Given the description of an element on the screen output the (x, y) to click on. 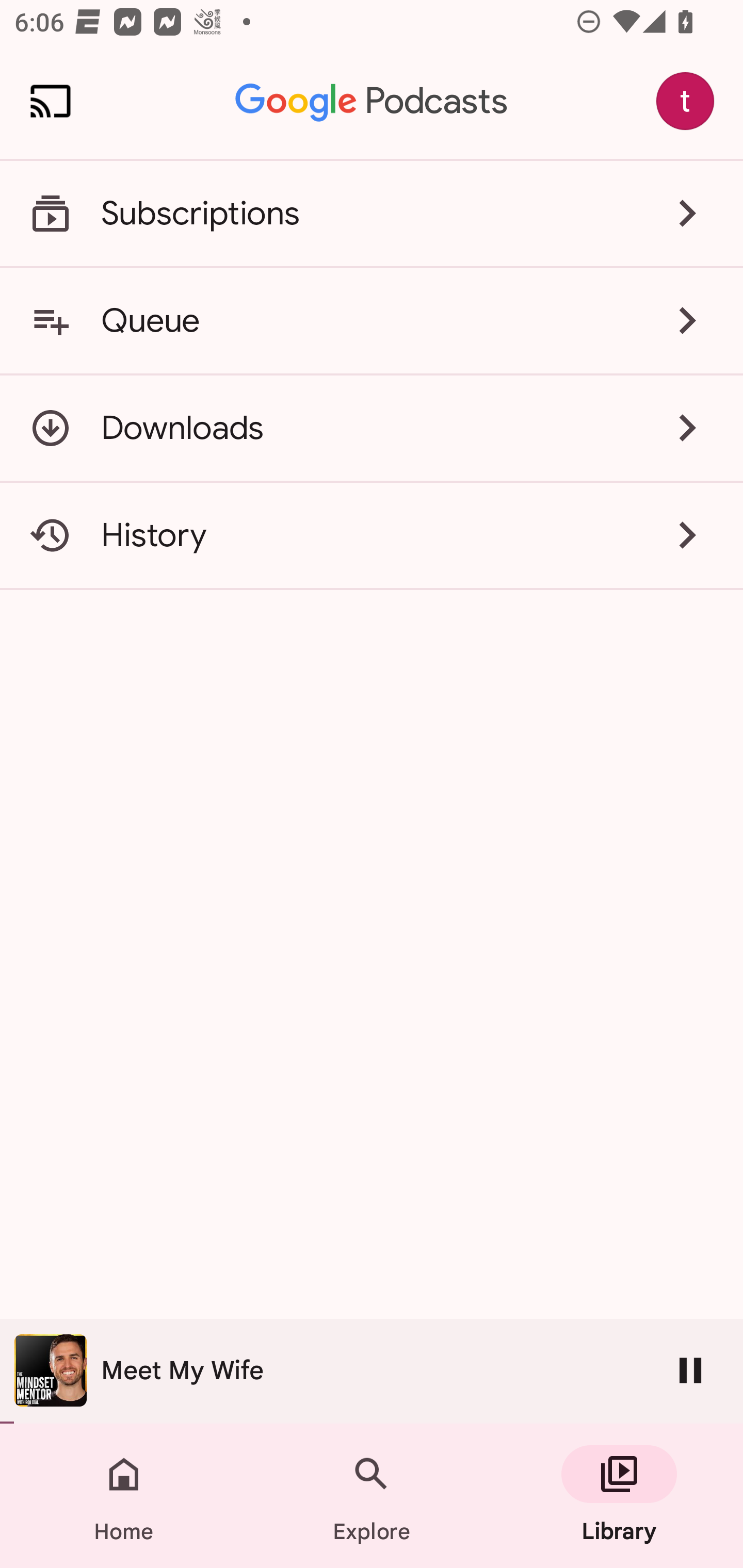
Cast. Disconnected (50, 101)
Subscriptions (371, 213)
Queue (371, 320)
Downloads (371, 427)
History (371, 535)
The Mindset Mentor Meet My Wife Pause 184.0 (371, 1370)
Pause (690, 1370)
Home (123, 1495)
Explore (371, 1495)
